Given the description of an element on the screen output the (x, y) to click on. 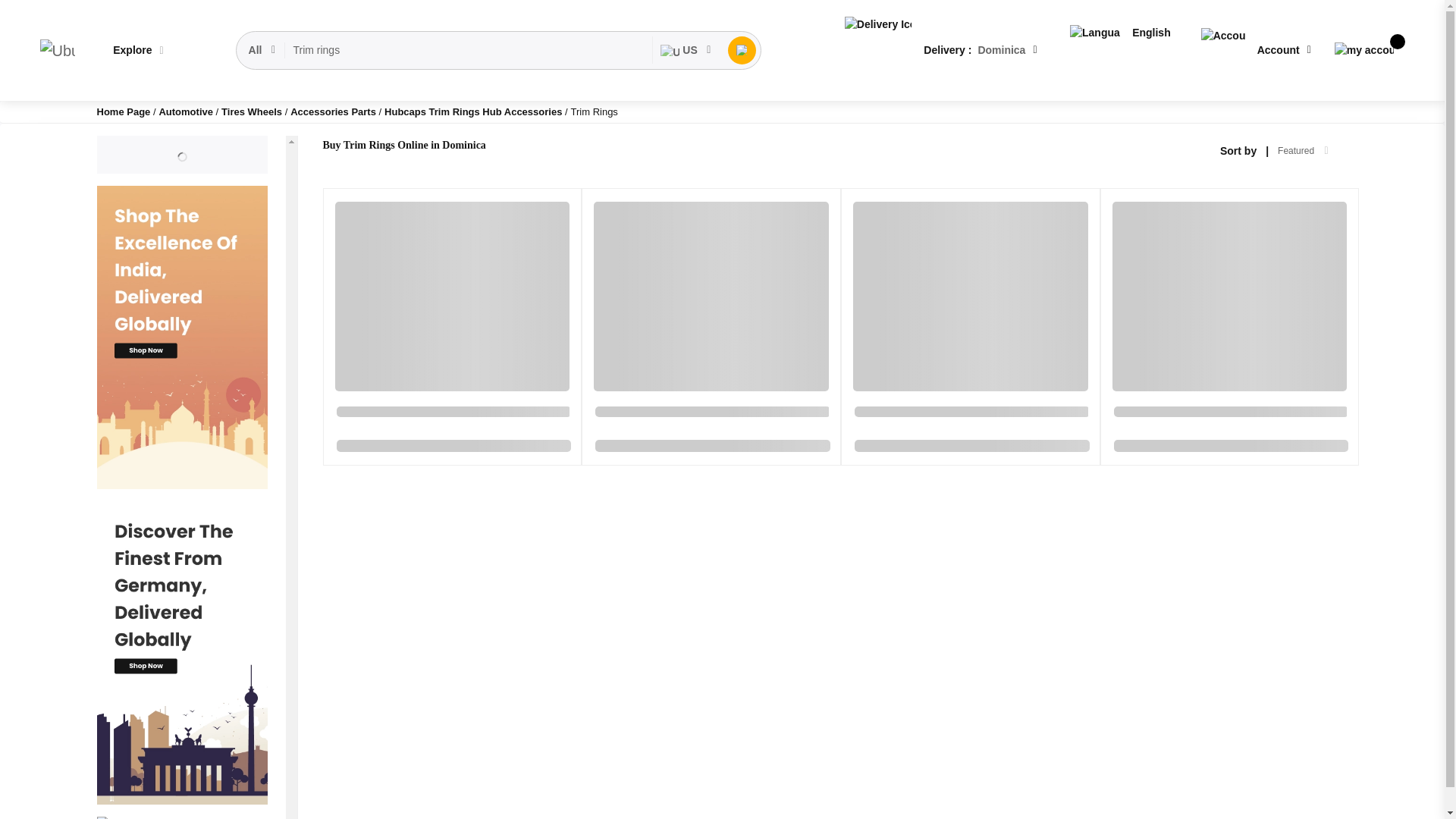
Automotive (186, 111)
Trim rings (468, 49)
Trim rings (468, 49)
All (263, 50)
Home Page (124, 111)
Home Page (124, 111)
Cart (1364, 49)
US (685, 50)
Automotive (186, 111)
Ubuy (57, 50)
